Given the description of an element on the screen output the (x, y) to click on. 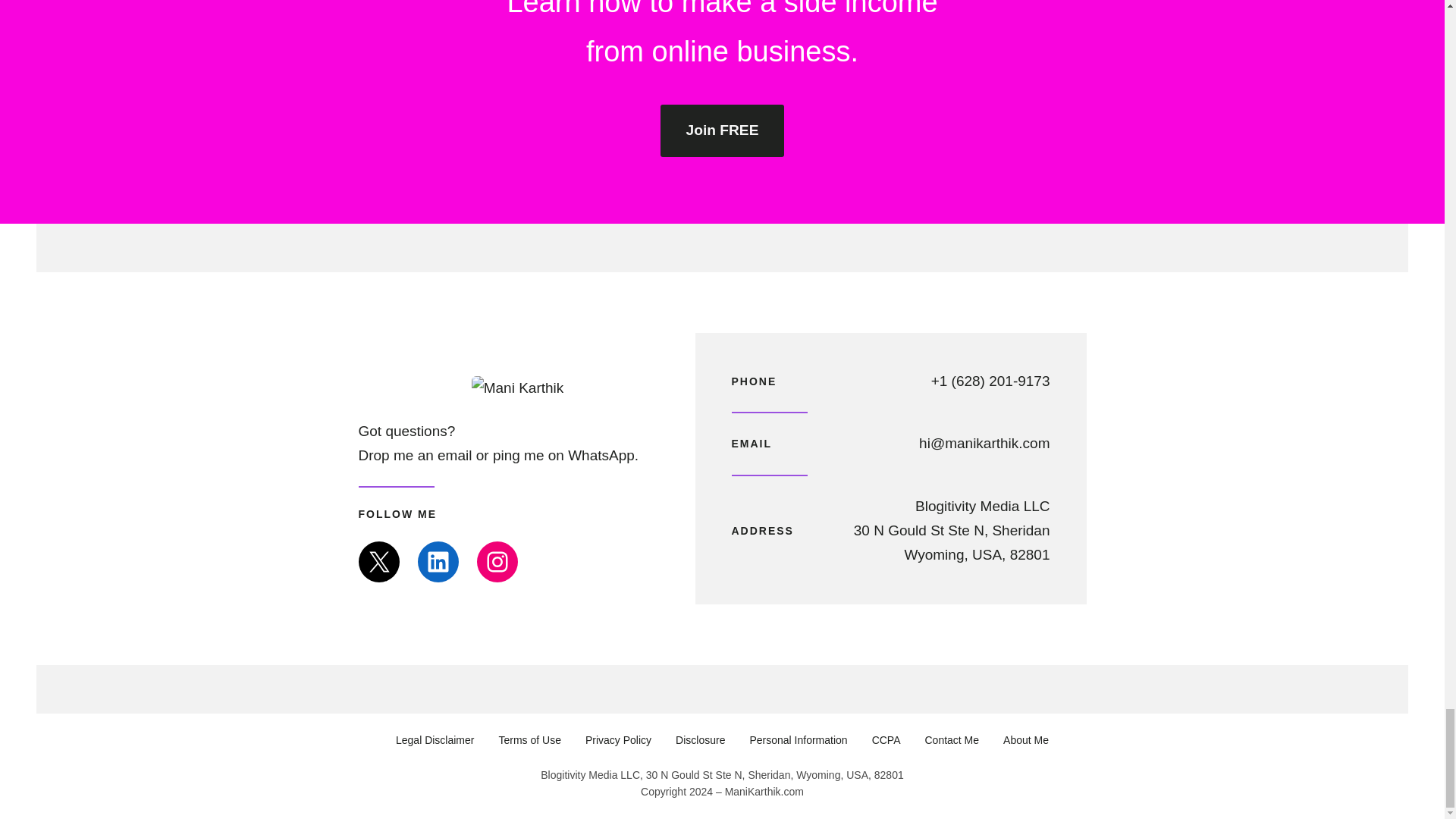
Privacy Policy (617, 740)
Join FREE (722, 130)
Instagram (496, 561)
Disclosure (700, 740)
X (378, 561)
LinkedIn (437, 561)
Legal Disclaimer (435, 740)
Terms of Use (528, 740)
